Given the description of an element on the screen output the (x, y) to click on. 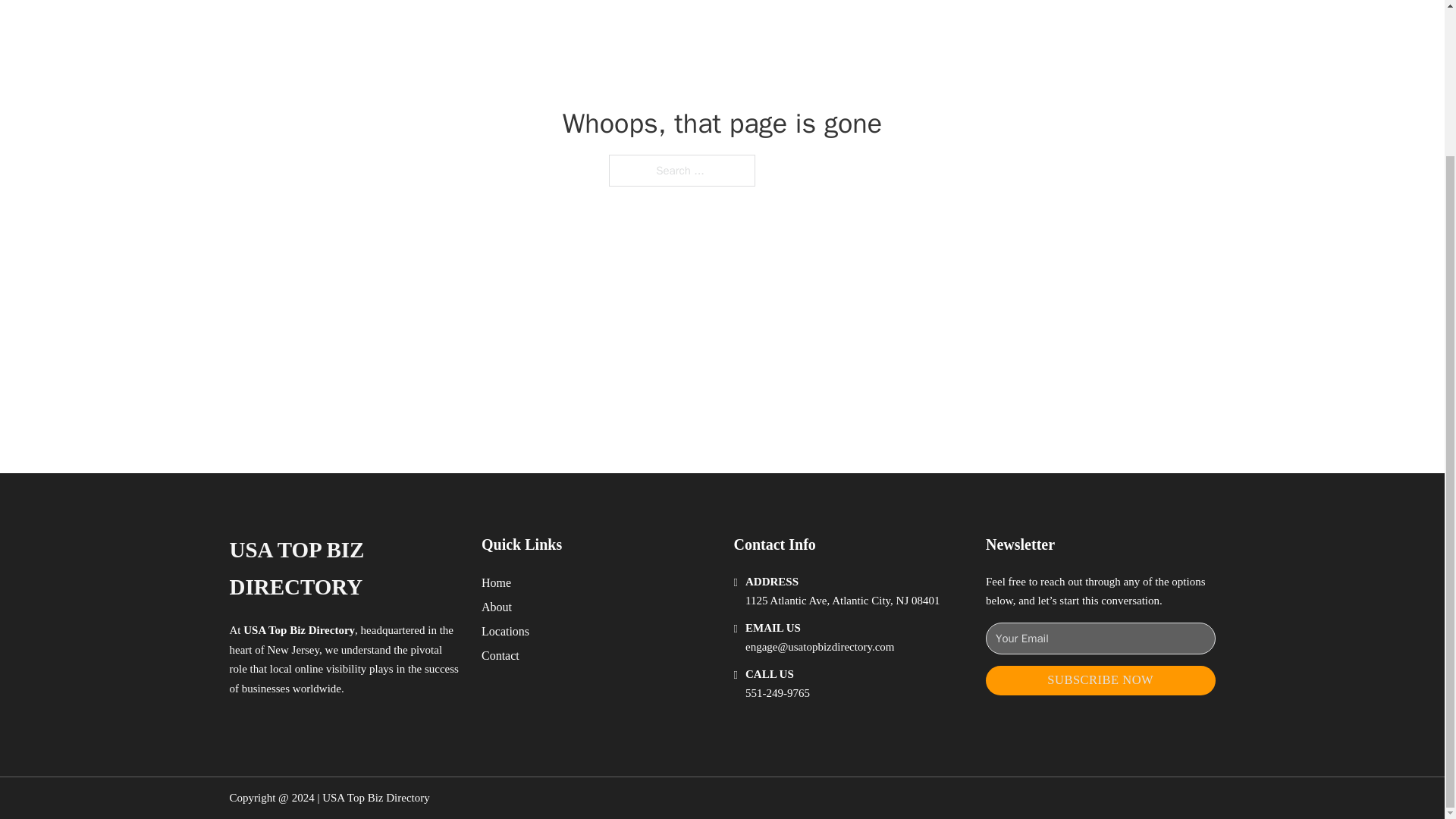
Locations (505, 630)
Contact (500, 655)
About (496, 607)
SUBSCRIBE NOW (1100, 680)
Home (496, 582)
USA TOP BIZ DIRECTORY (343, 568)
551-249-9765 (777, 693)
